Given the description of an element on the screen output the (x, y) to click on. 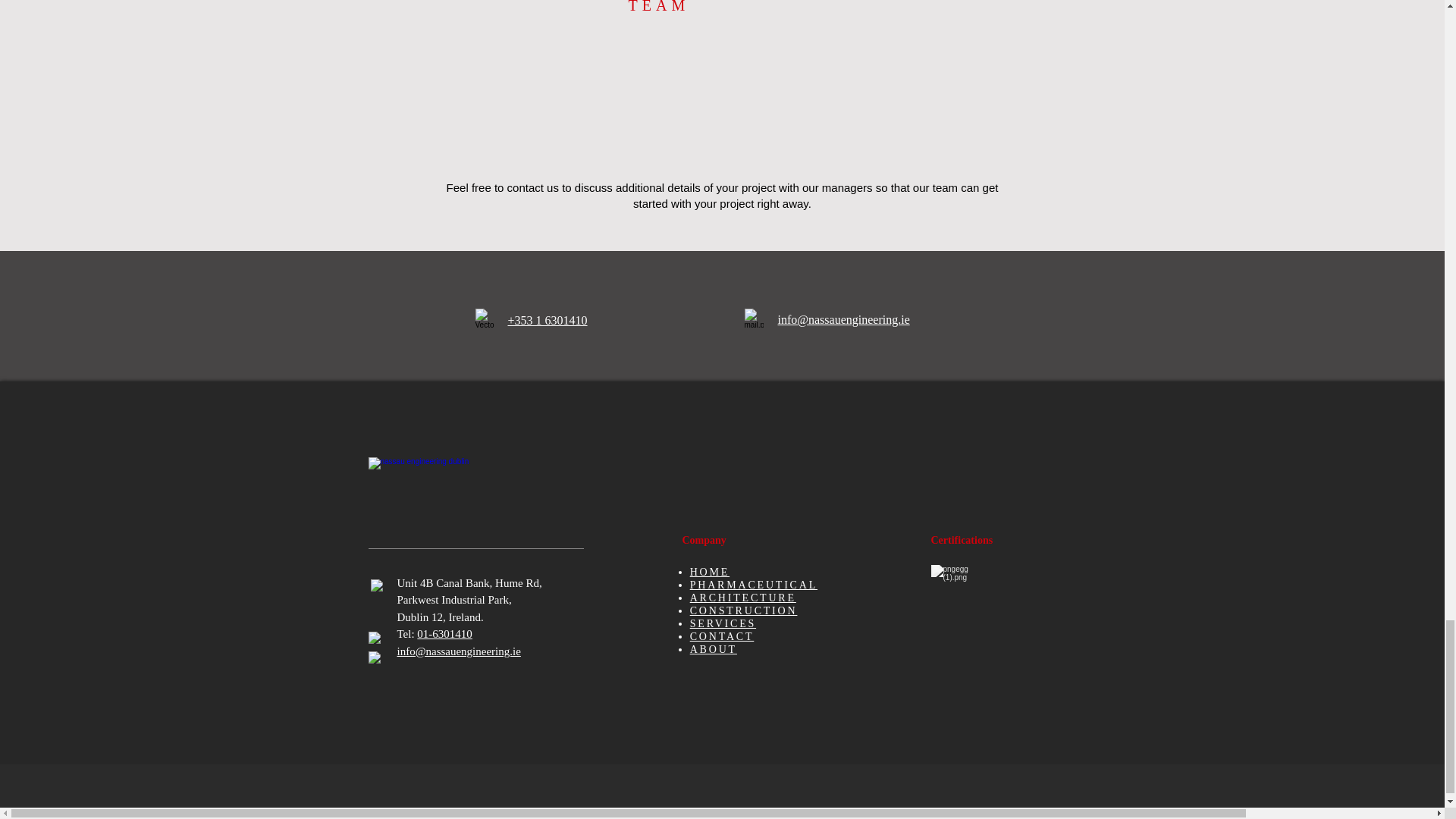
01-6301410 (443, 633)
SERVICES (722, 623)
ARCHITECTURE (743, 597)
ABOUT (713, 648)
PHARMACEUTICAL (753, 584)
CONTACT (722, 635)
HOME (709, 572)
CONSTRUCTION (743, 610)
